Given the description of an element on the screen output the (x, y) to click on. 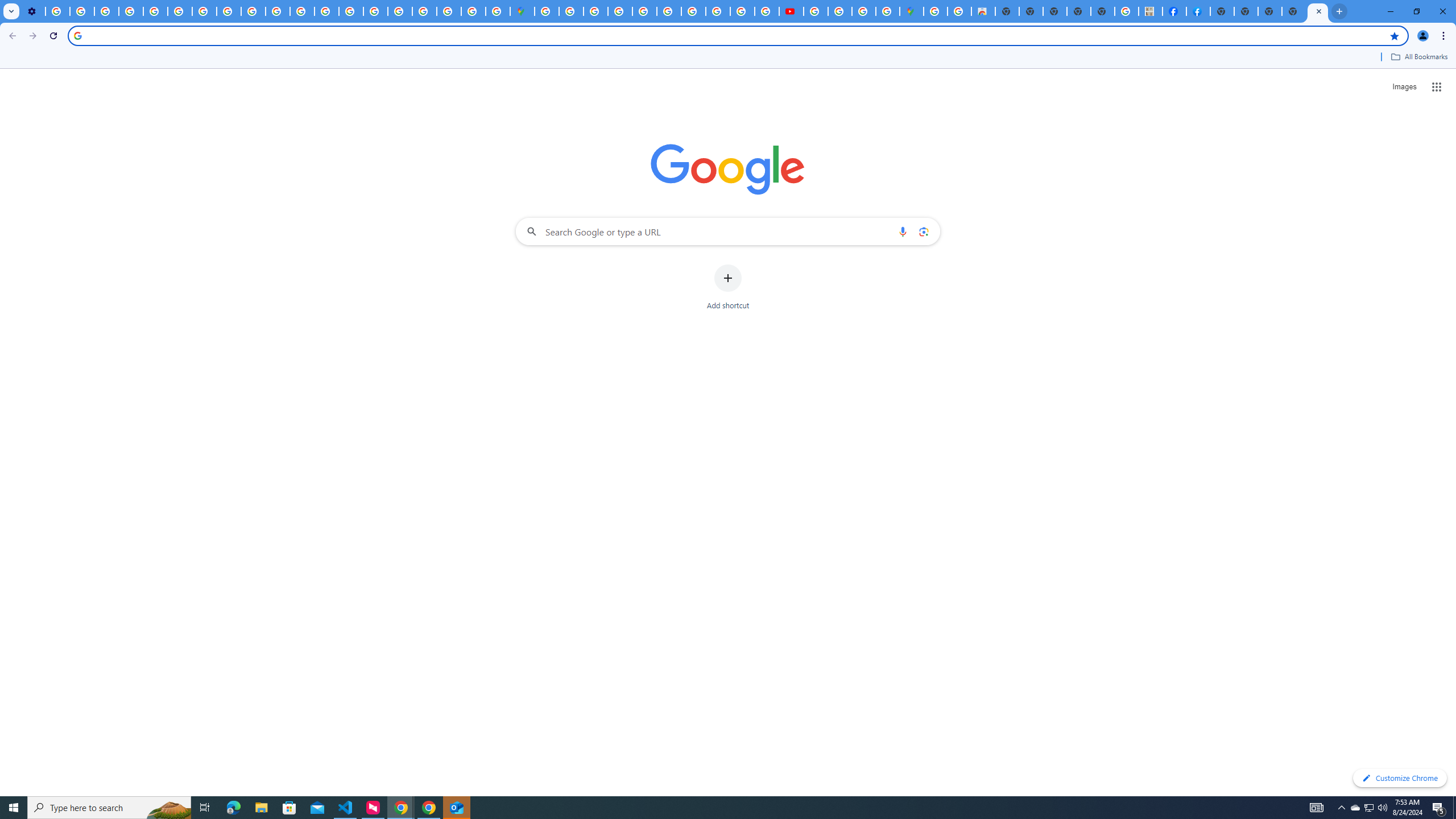
Privacy Help Center - Policies Help (325, 11)
Privacy Help Center - Policies Help (742, 11)
Privacy Checkup (252, 11)
Sign in - Google Accounts (570, 11)
